Given the description of an element on the screen output the (x, y) to click on. 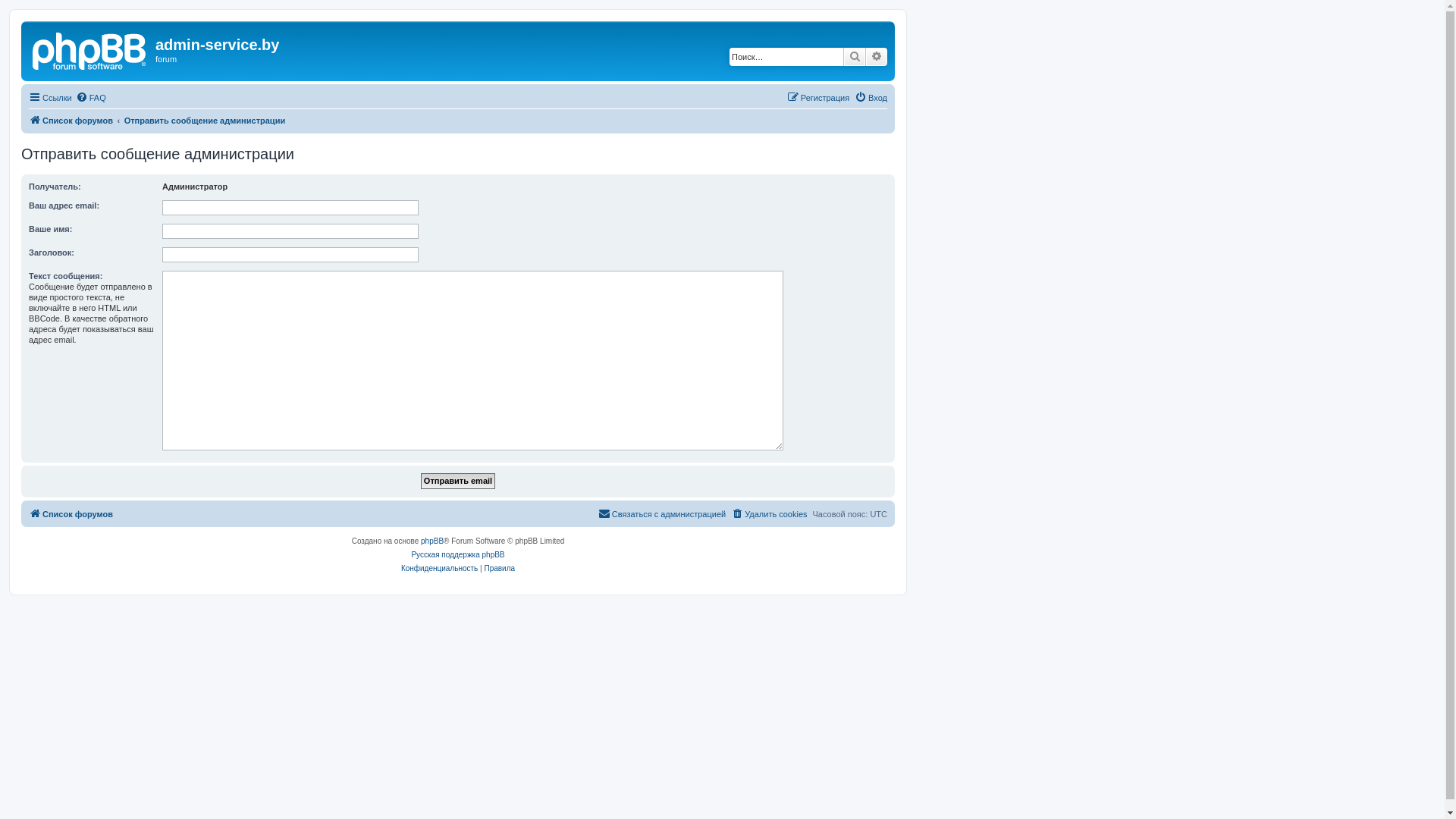
FAQ Element type: text (90, 97)
phpBB Element type: text (431, 541)
